Given the description of an element on the screen output the (x, y) to click on. 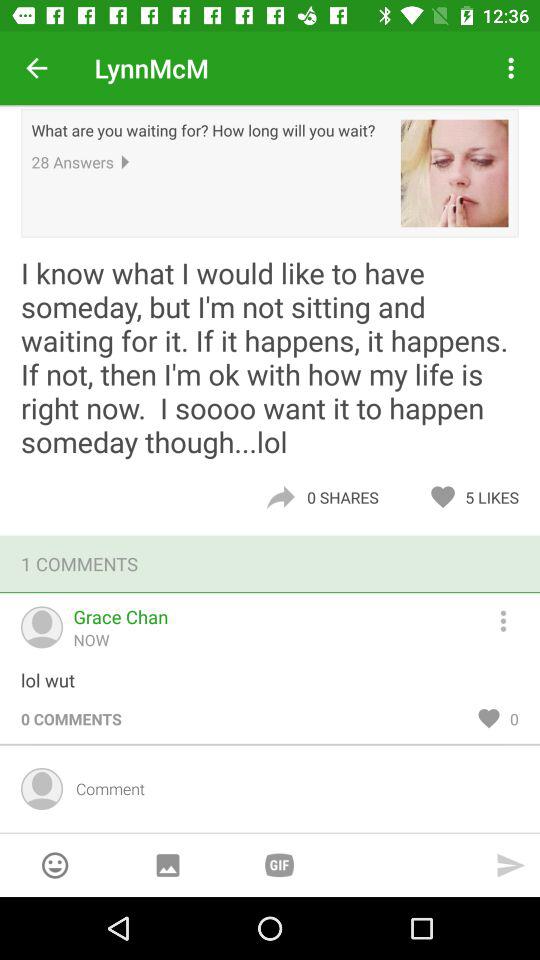
enter typed message for all to see (290, 788)
